Given the description of an element on the screen output the (x, y) to click on. 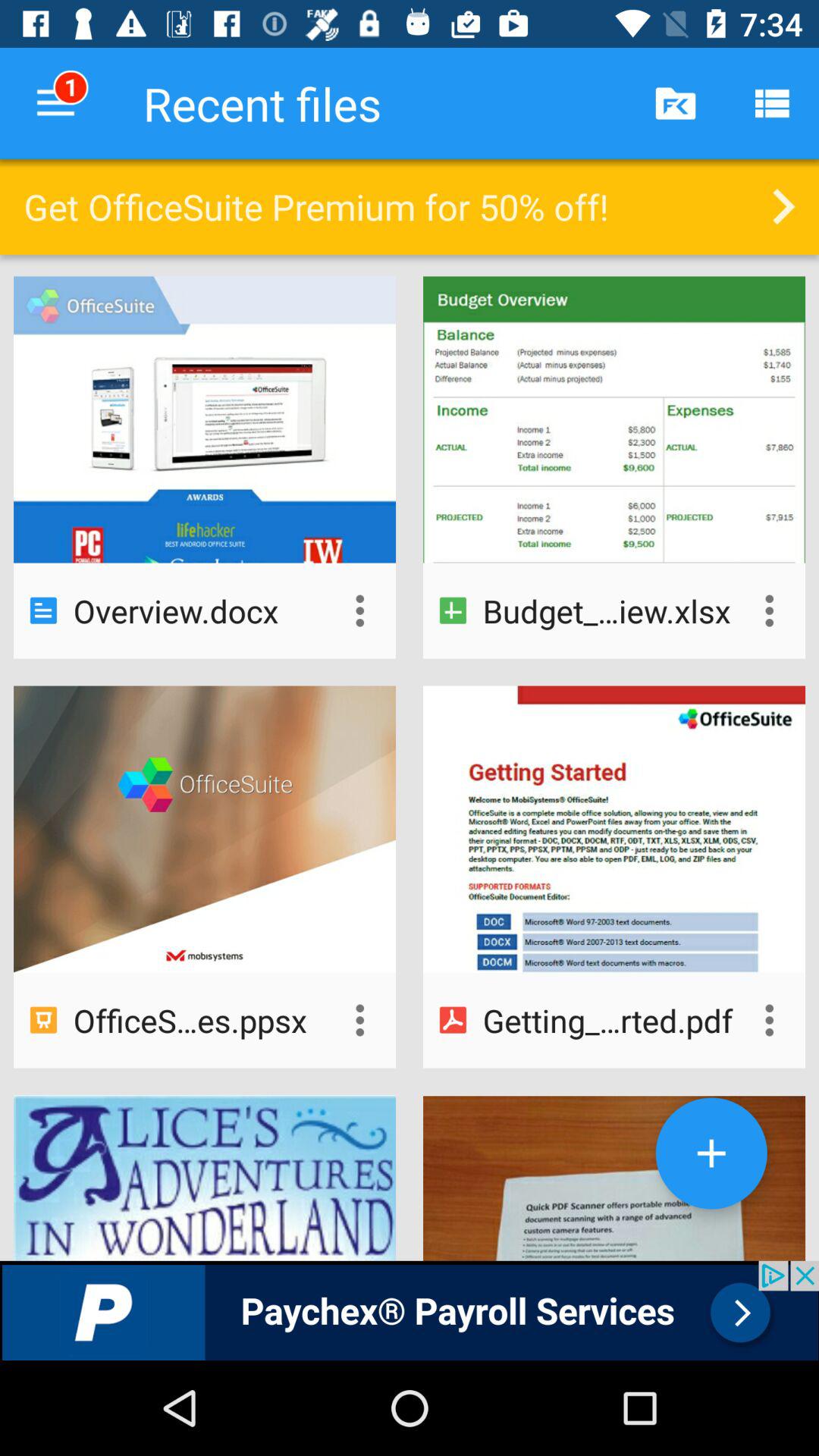
open options for file (359, 1020)
